Given the description of an element on the screen output the (x, y) to click on. 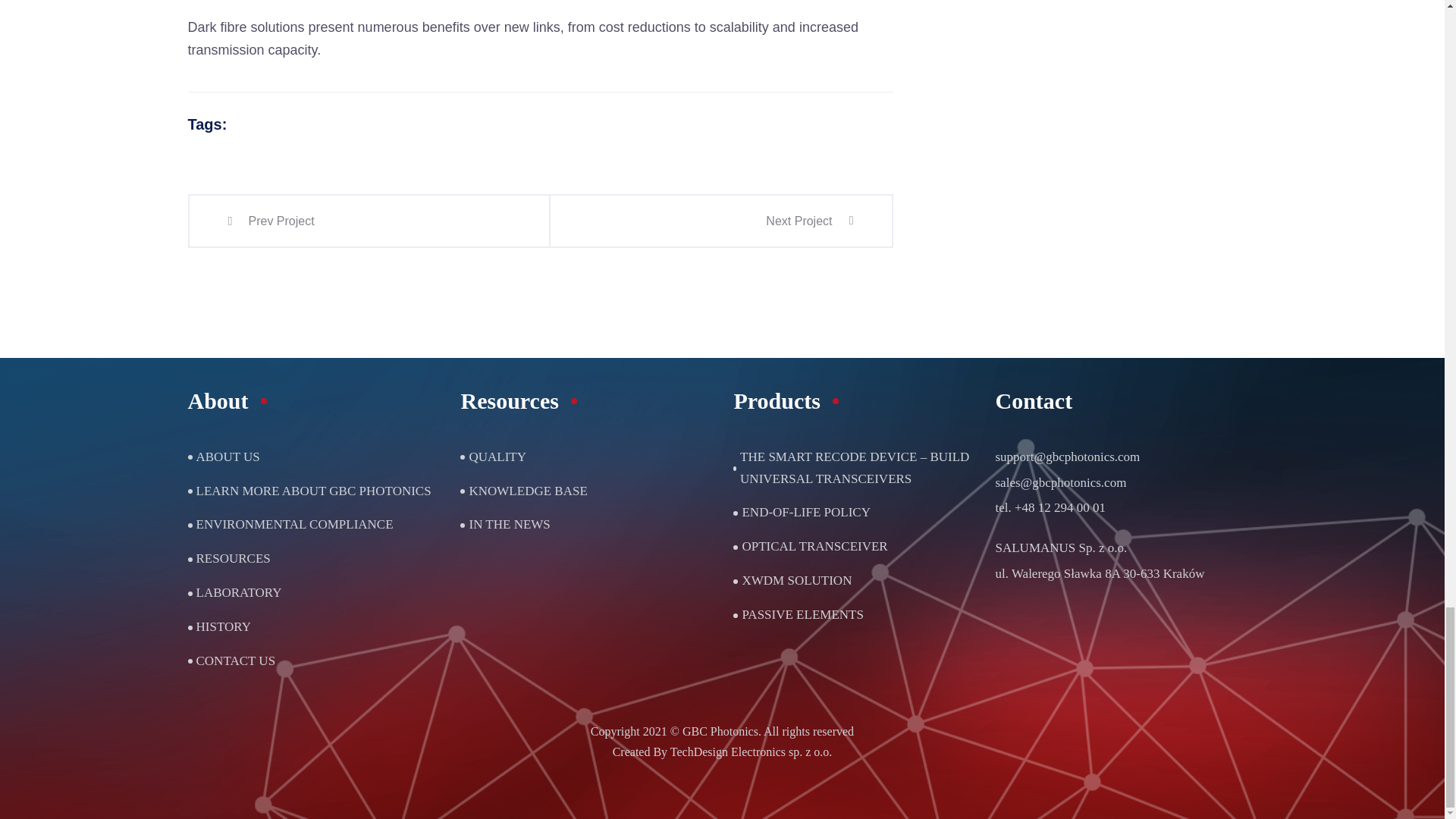
Use our form to contact us (235, 661)
